Given the description of an element on the screen output the (x, y) to click on. 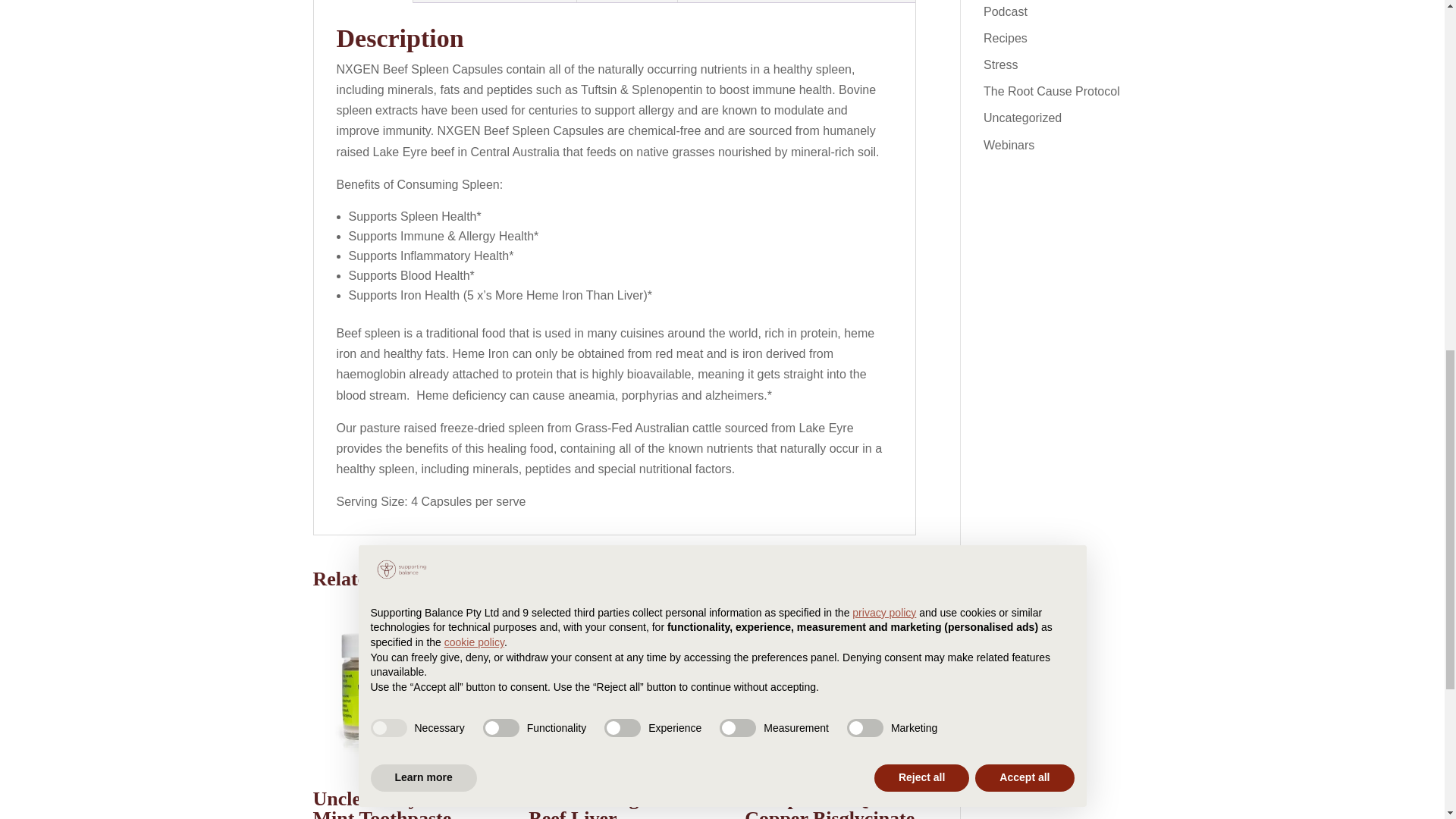
Description (362, 1)
Additional information (494, 1)
